Given the description of an element on the screen output the (x, y) to click on. 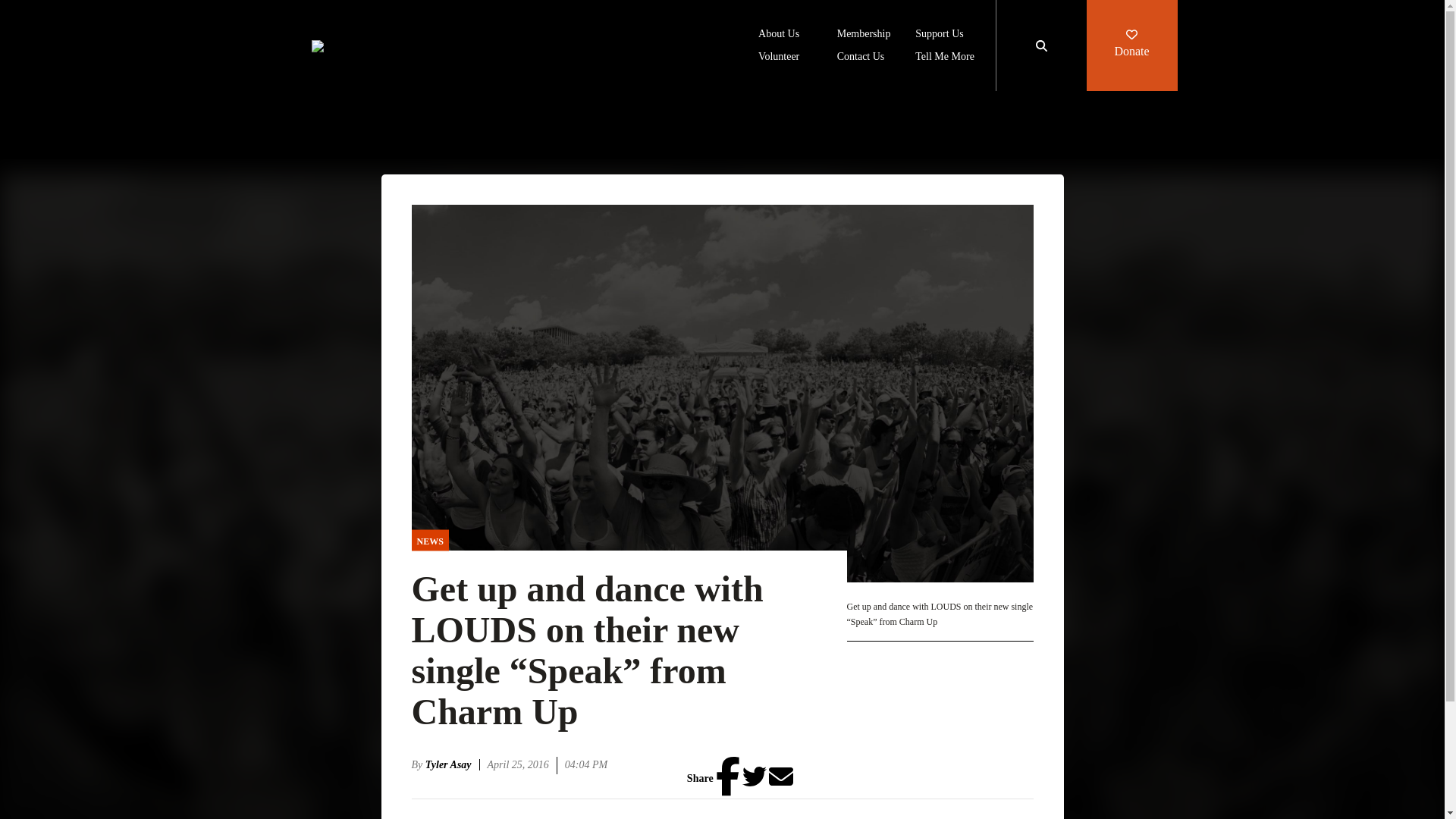
Donate (1131, 45)
Tell Me More (944, 57)
Contact Us (861, 57)
Tyler Asay (452, 764)
Volunteer (778, 57)
Support Us (938, 35)
About Us (778, 35)
Membership (864, 35)
